Given the description of an element on the screen output the (x, y) to click on. 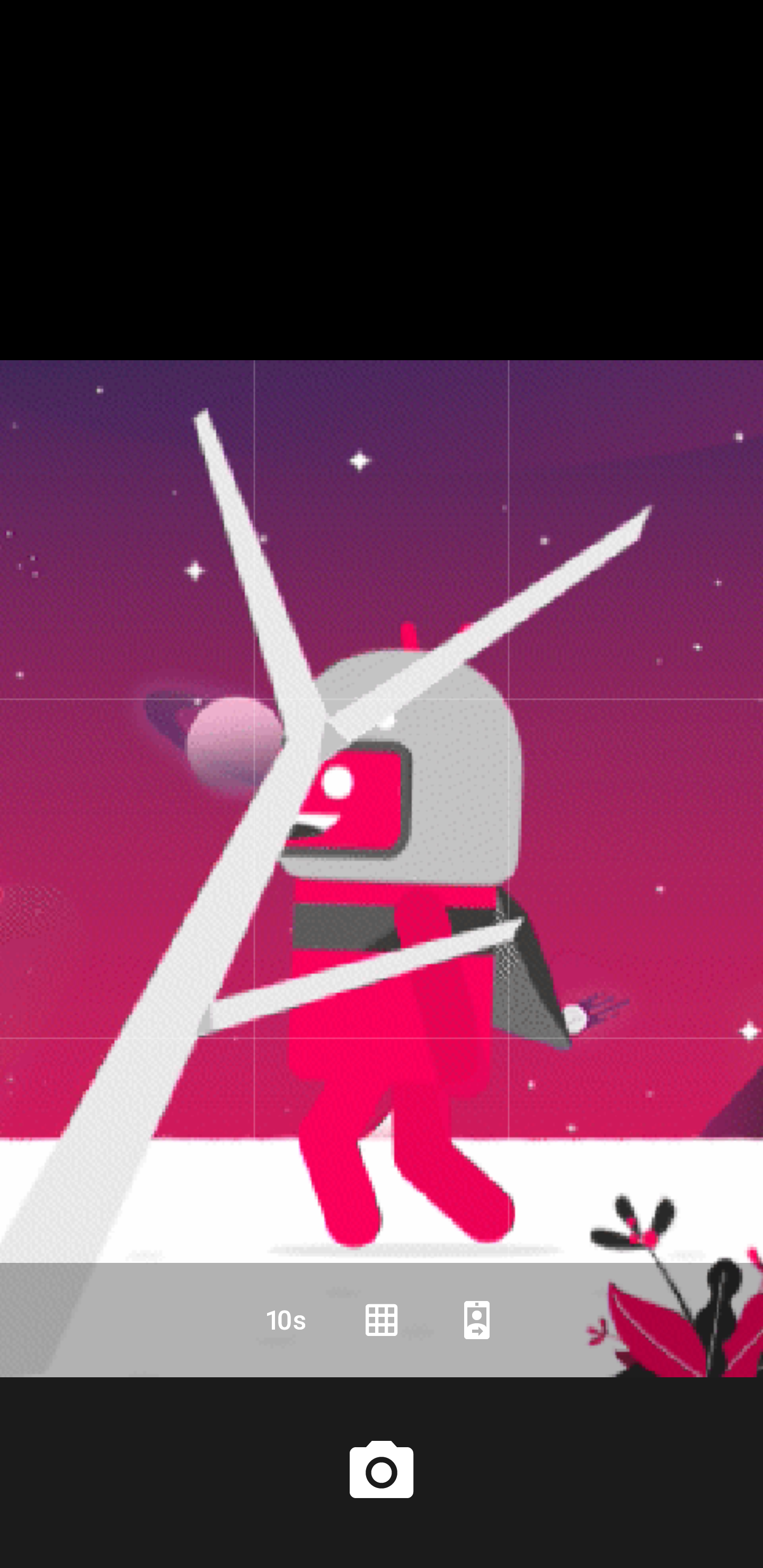
Countdown timer duration is set to 10 seconds (285, 1319)
Grid lines on (381, 1319)
Front camera (476, 1319)
Shutter (381, 1472)
